Given the description of an element on the screen output the (x, y) to click on. 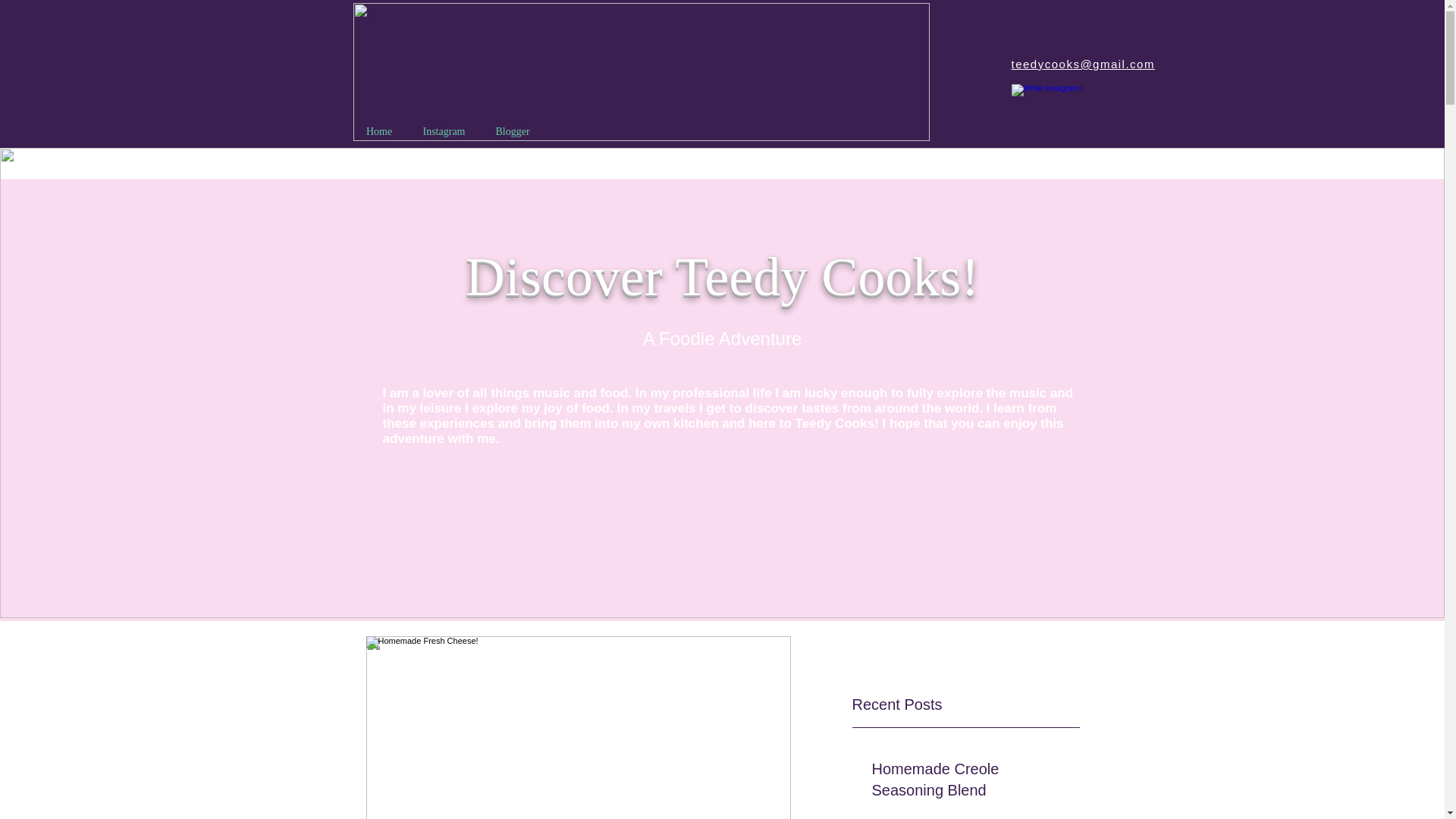
Homemade Creole Seasoning Blend (971, 782)
Instagram (443, 131)
Blogger (512, 131)
Home (378, 131)
